Given the description of an element on the screen output the (x, y) to click on. 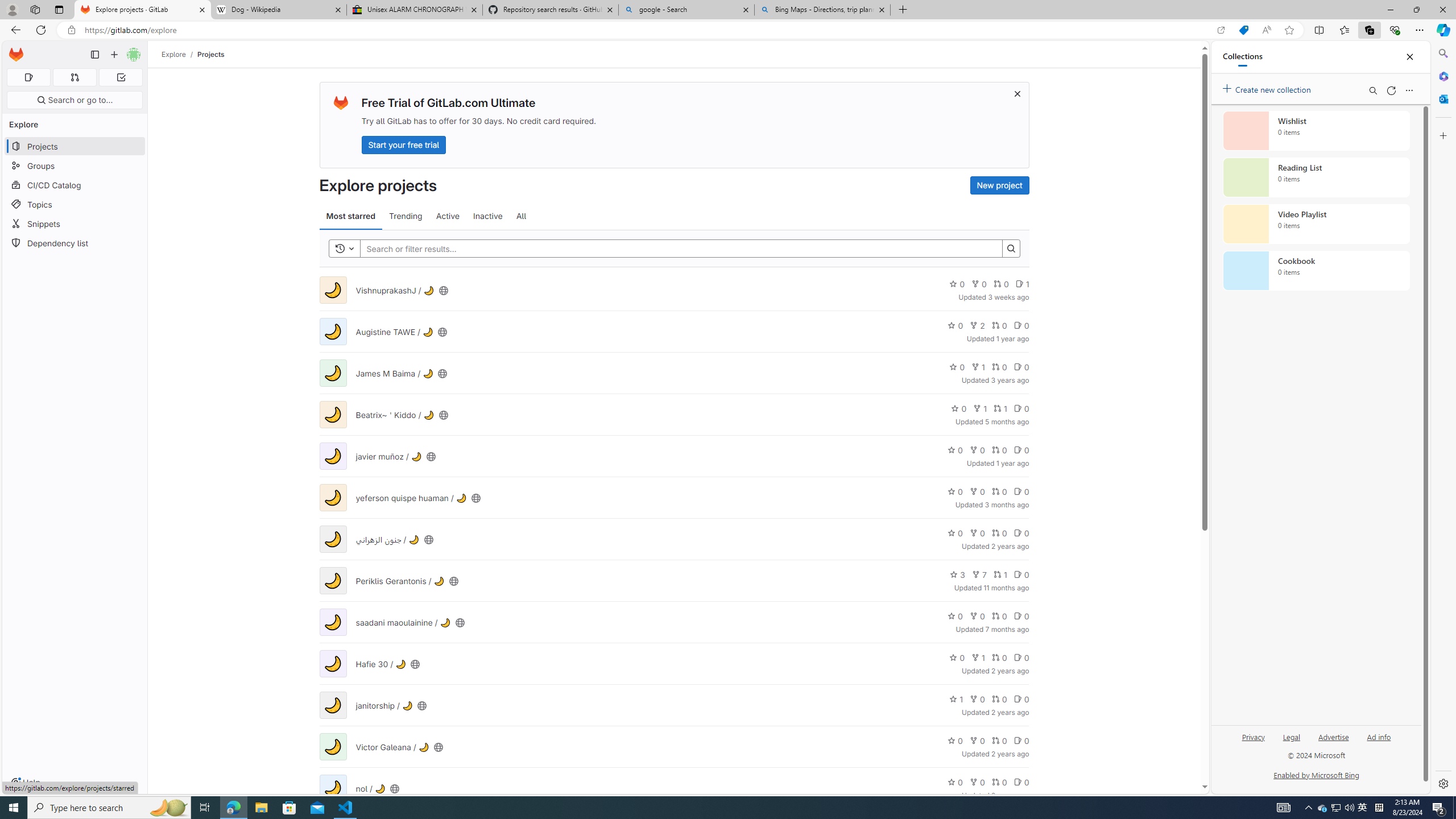
Legal (1292, 741)
Wishlist collection, 0 items (1316, 130)
CI/CD Catalog (74, 185)
Assigned issues 0 (28, 76)
Video Playlist collection, 0 items (1316, 223)
Most starred (350, 216)
